Given the description of an element on the screen output the (x, y) to click on. 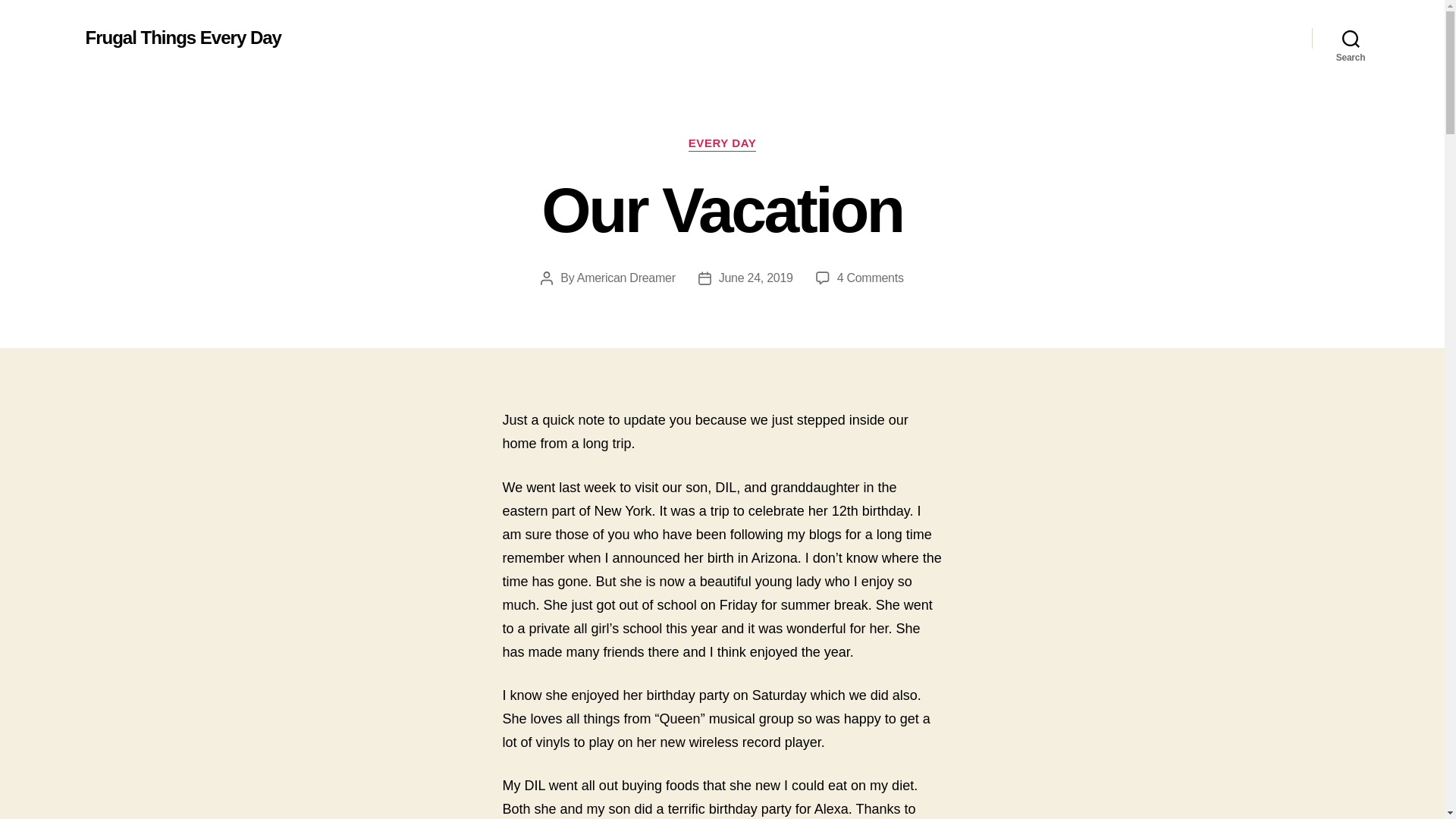
American Dreamer (625, 277)
Search (1350, 37)
EVERY DAY (721, 143)
June 24, 2019 (756, 277)
Frugal Things Every Day (182, 37)
